Given the description of an element on the screen output the (x, y) to click on. 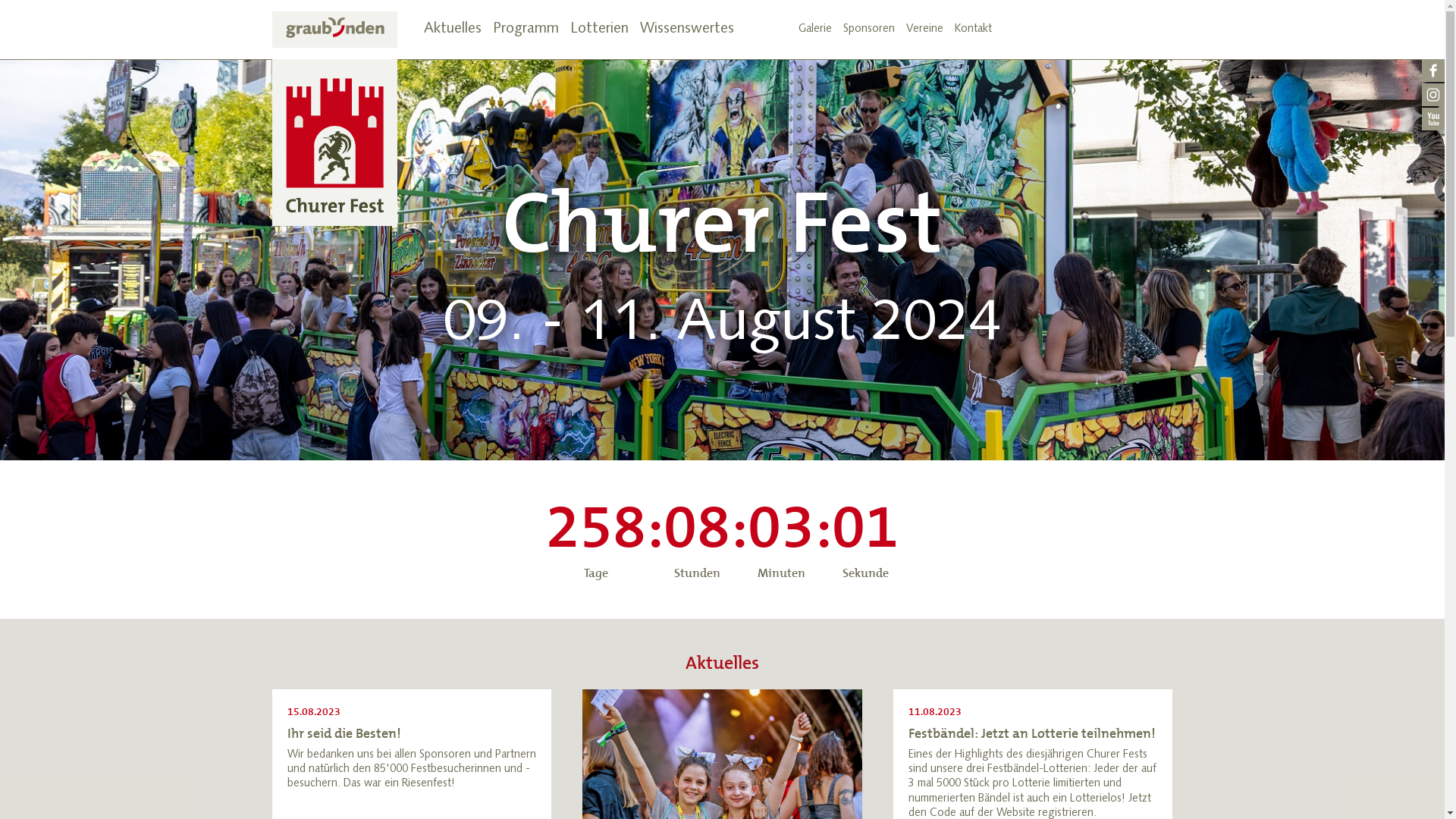
Galerie Element type: text (814, 29)
Werde ein Fan auf Facebook Element type: hover (1432, 71)
Folge uns auf Instagram Element type: hover (1432, 95)
Kontakt Element type: text (972, 29)
Programm Element type: text (525, 29)
Startseite Element type: hover (333, 118)
zu unserem YouTube-Kanal Element type: hover (1432, 119)
Aktuelles Element type: text (451, 29)
Vereine Element type: text (923, 29)
Lotterien Element type: text (599, 29)
Wissenswertes Element type: text (687, 29)
Sponsoren Element type: text (868, 29)
